Given the description of an element on the screen output the (x, y) to click on. 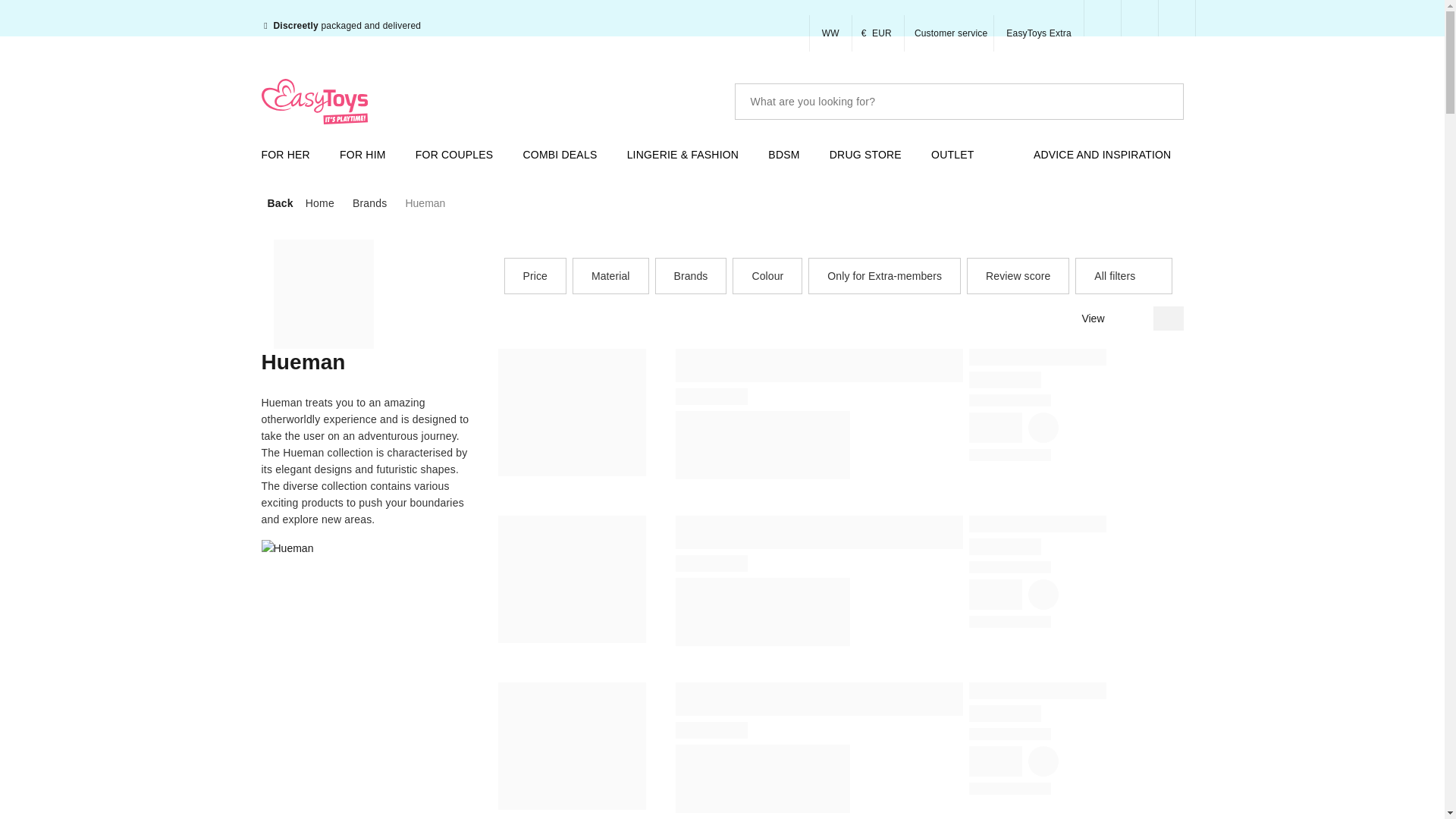
OUTLET (958, 154)
FOR COUPLES (459, 154)
DRUG STORE (871, 154)
COMBI DEALS (566, 154)
Customer service (949, 33)
BDSM (789, 154)
ADVICE AND INSPIRATION (1108, 154)
FOR HIM (368, 154)
FOR HER (290, 154)
